Given the description of an element on the screen output the (x, y) to click on. 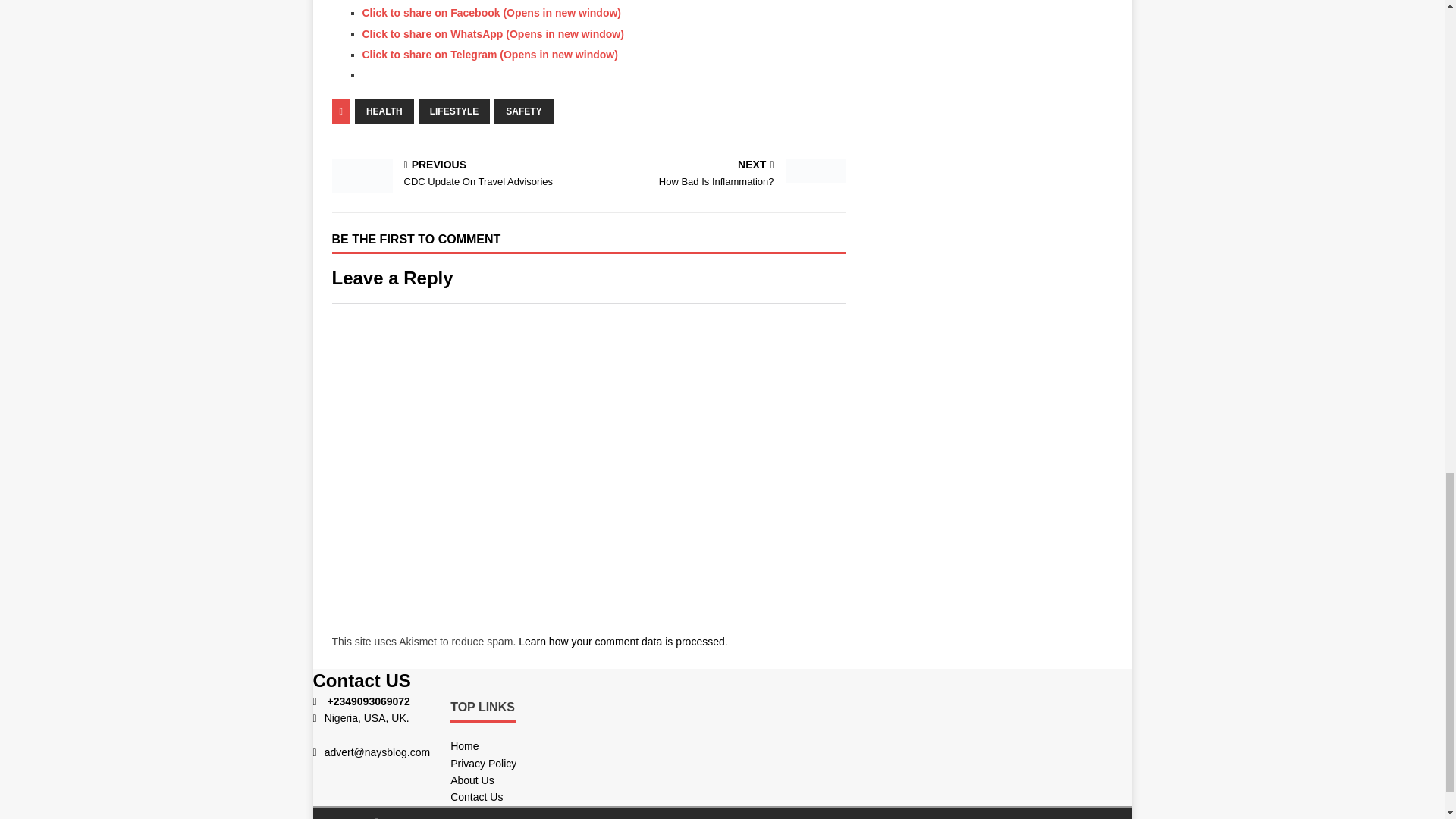
Nigeria, USA, UK. (361, 726)
Home (464, 746)
HEALTH (457, 174)
LIFESTYLE (384, 111)
Click to share on Facebook (454, 111)
Click to share on WhatsApp (720, 174)
Learn how your comment data is processed (491, 12)
Privacy Policy (493, 33)
Click to share on Telegram (621, 641)
SAFETY (482, 763)
About Us (489, 54)
